Given the description of an element on the screen output the (x, y) to click on. 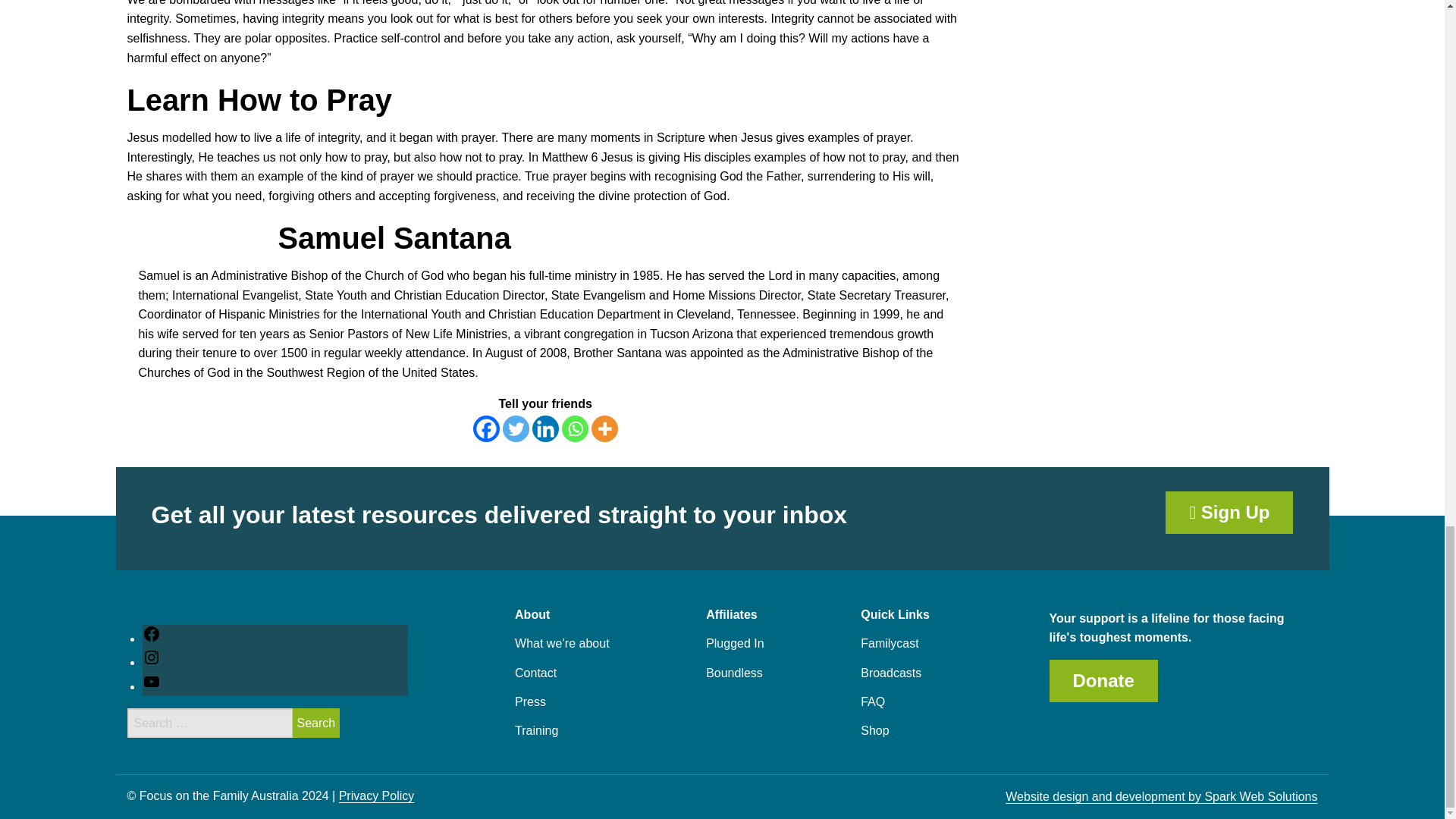
Search (316, 722)
Facebook (486, 428)
Twitter (515, 428)
Search (316, 722)
Linkedin (545, 428)
Whatsapp (575, 428)
More (604, 428)
